Given the description of an element on the screen output the (x, y) to click on. 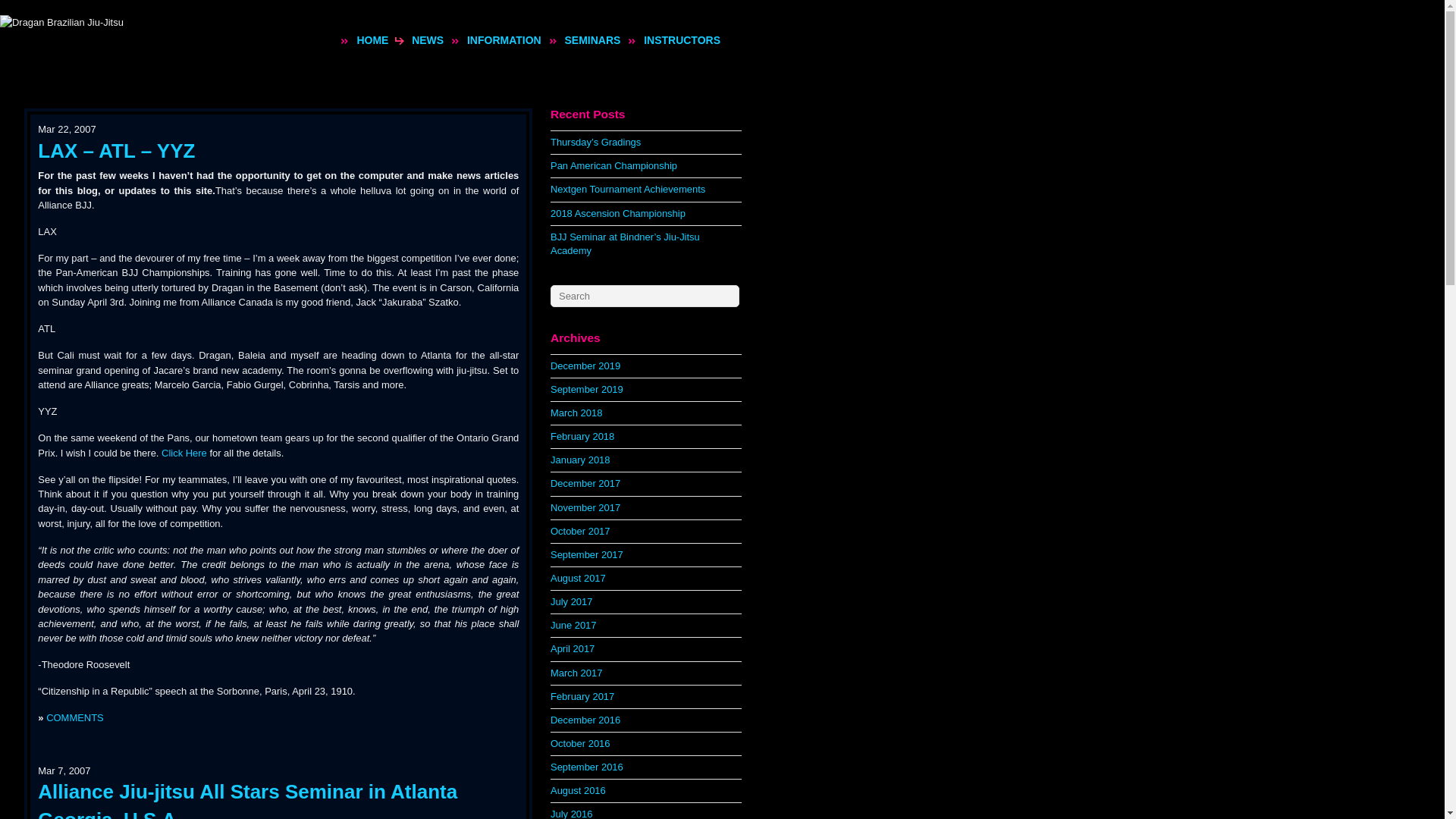
August 2017 (577, 577)
February 2017 (582, 696)
January 2018 (580, 460)
Menu Dingbat (552, 40)
Pan American Championship (613, 165)
February 2018 (582, 436)
INSTRUCTORS (681, 39)
July 2016 (571, 813)
Menu Dingbat (344, 40)
Dragan Brazilian Jiu-Jitsu (61, 22)
